Given the description of an element on the screen output the (x, y) to click on. 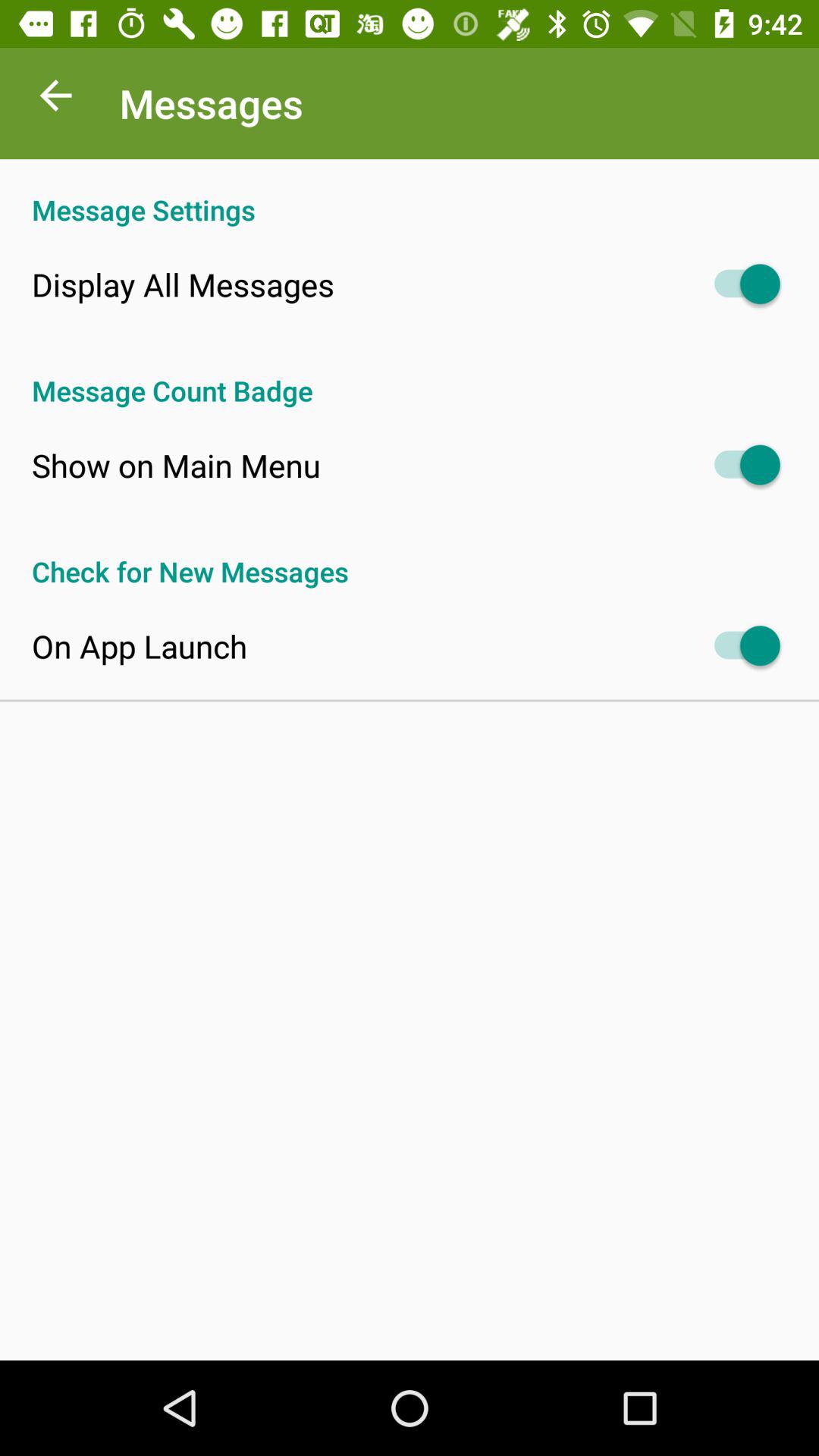
jump to the show on main (175, 464)
